Given the description of an element on the screen output the (x, y) to click on. 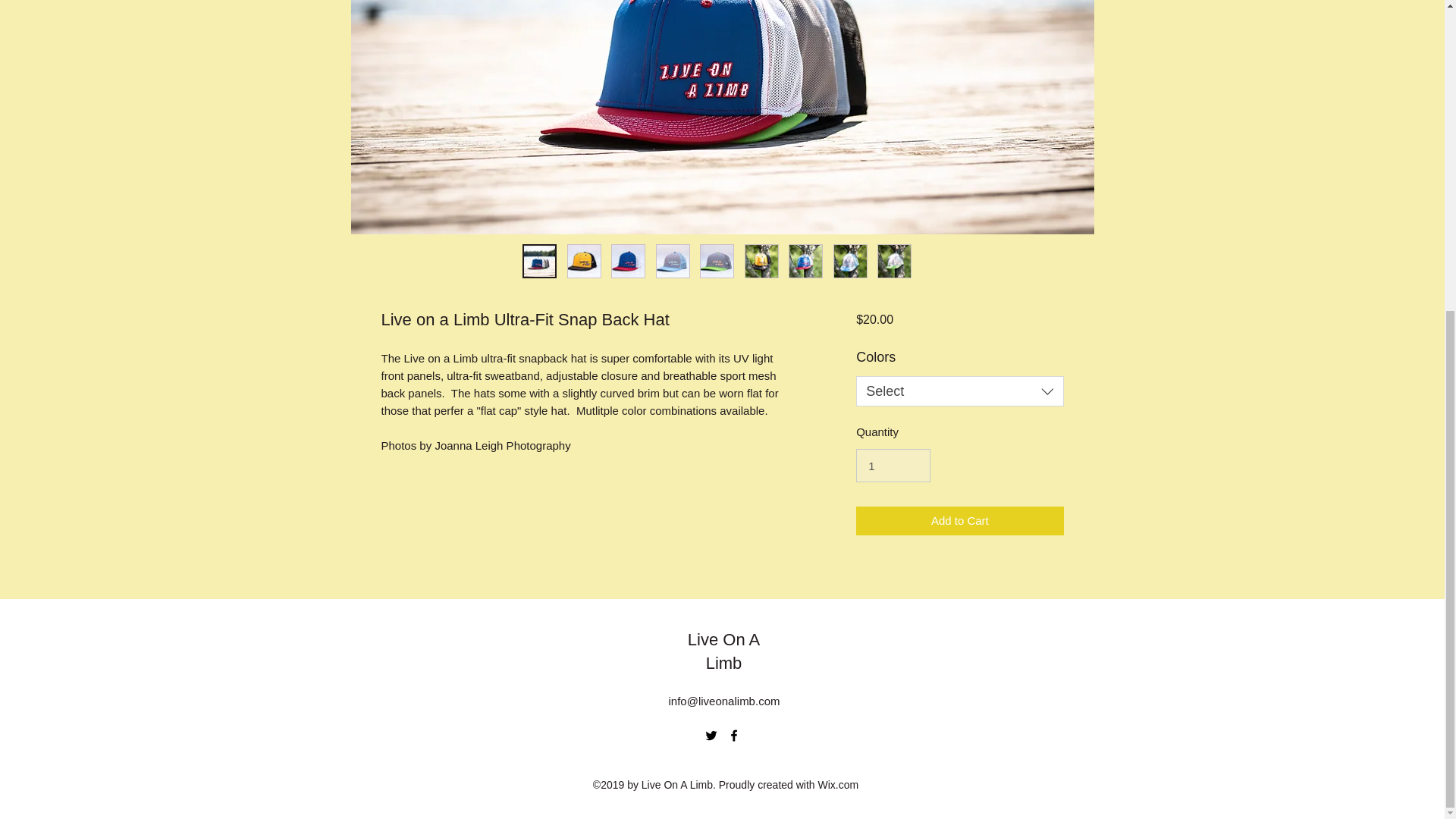
Select (959, 390)
Live On A Limb (723, 650)
1 (893, 465)
Add to Cart (959, 521)
